Given the description of an element on the screen output the (x, y) to click on. 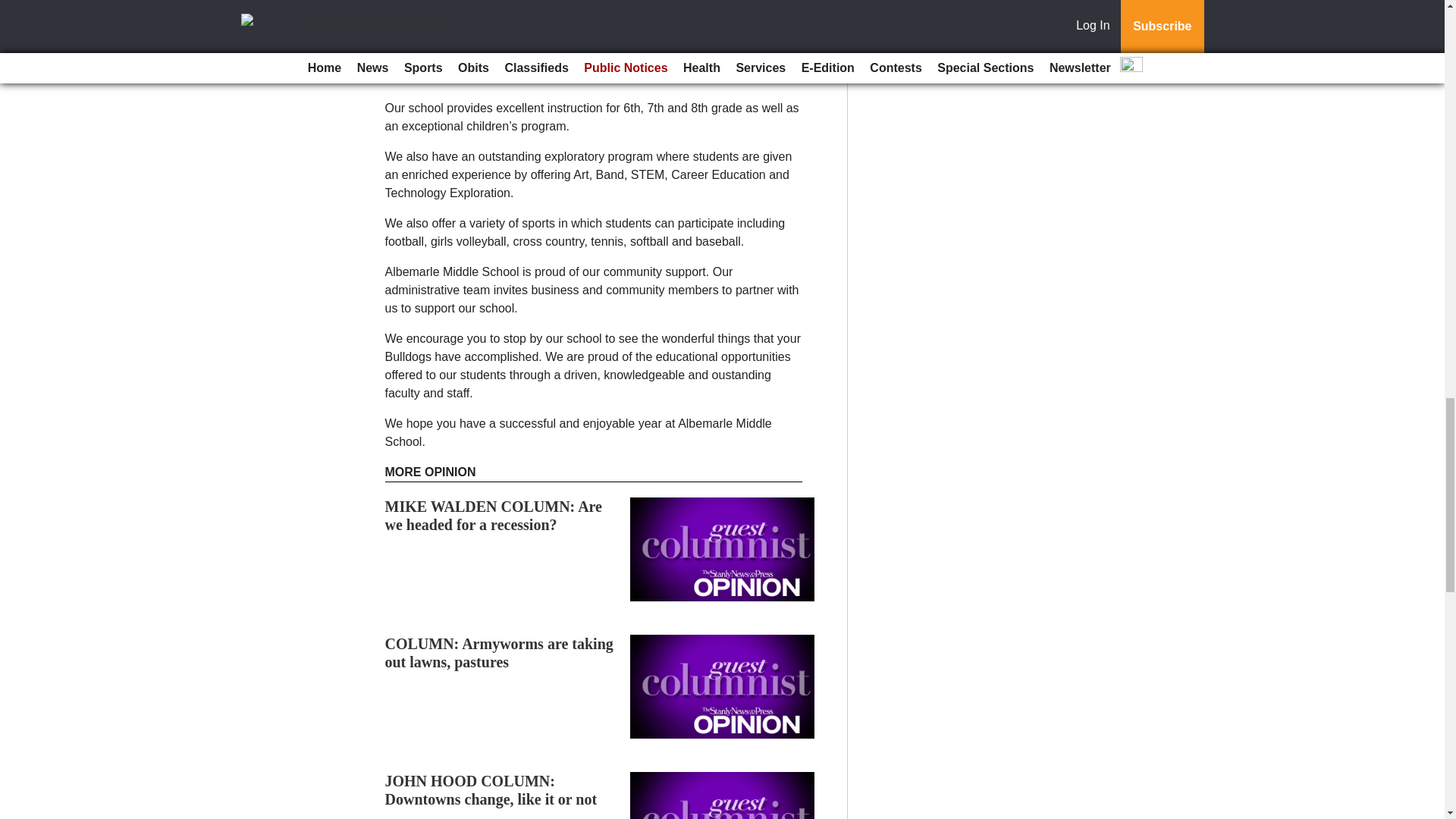
JOHN HOOD COLUMN: Downtowns change, like it or not (490, 790)
JOHN HOOD COLUMN: Downtowns change, like it or not (490, 790)
COLUMN: Armyworms are taking out lawns, pastures (498, 652)
MIKE WALDEN COLUMN: Are we headed for a recession? (493, 515)
MIKE WALDEN COLUMN: Are we headed for a recession? (493, 515)
COLUMN: Armyworms are taking out lawns, pastures (498, 652)
